Given the description of an element on the screen output the (x, y) to click on. 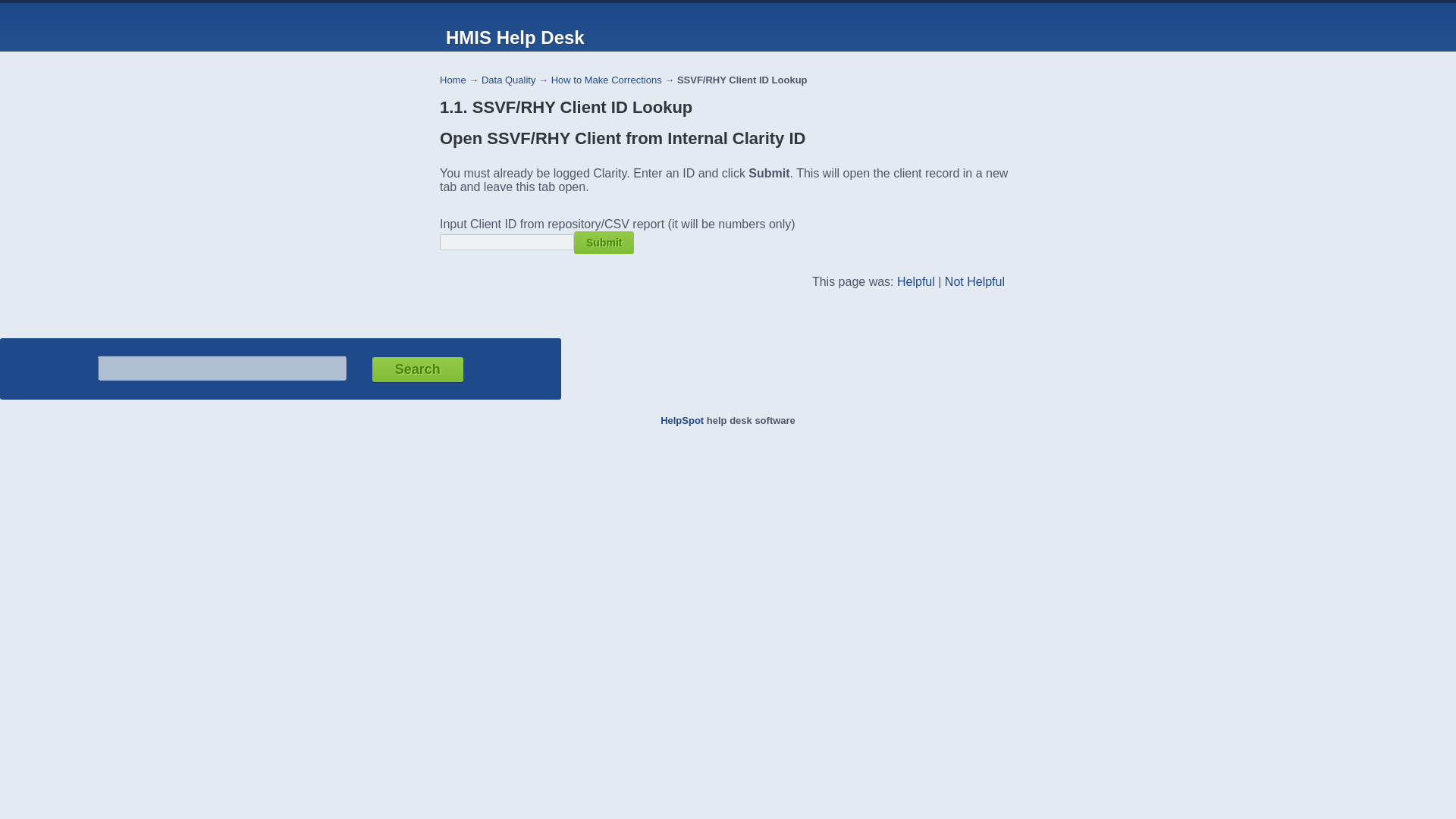
How to Make Corrections (606, 79)
Home (452, 79)
Helpful (915, 281)
Submit (603, 241)
Search (417, 369)
Not Helpful (974, 281)
Data Quality (508, 79)
Search (417, 369)
